Given the description of an element on the screen output the (x, y) to click on. 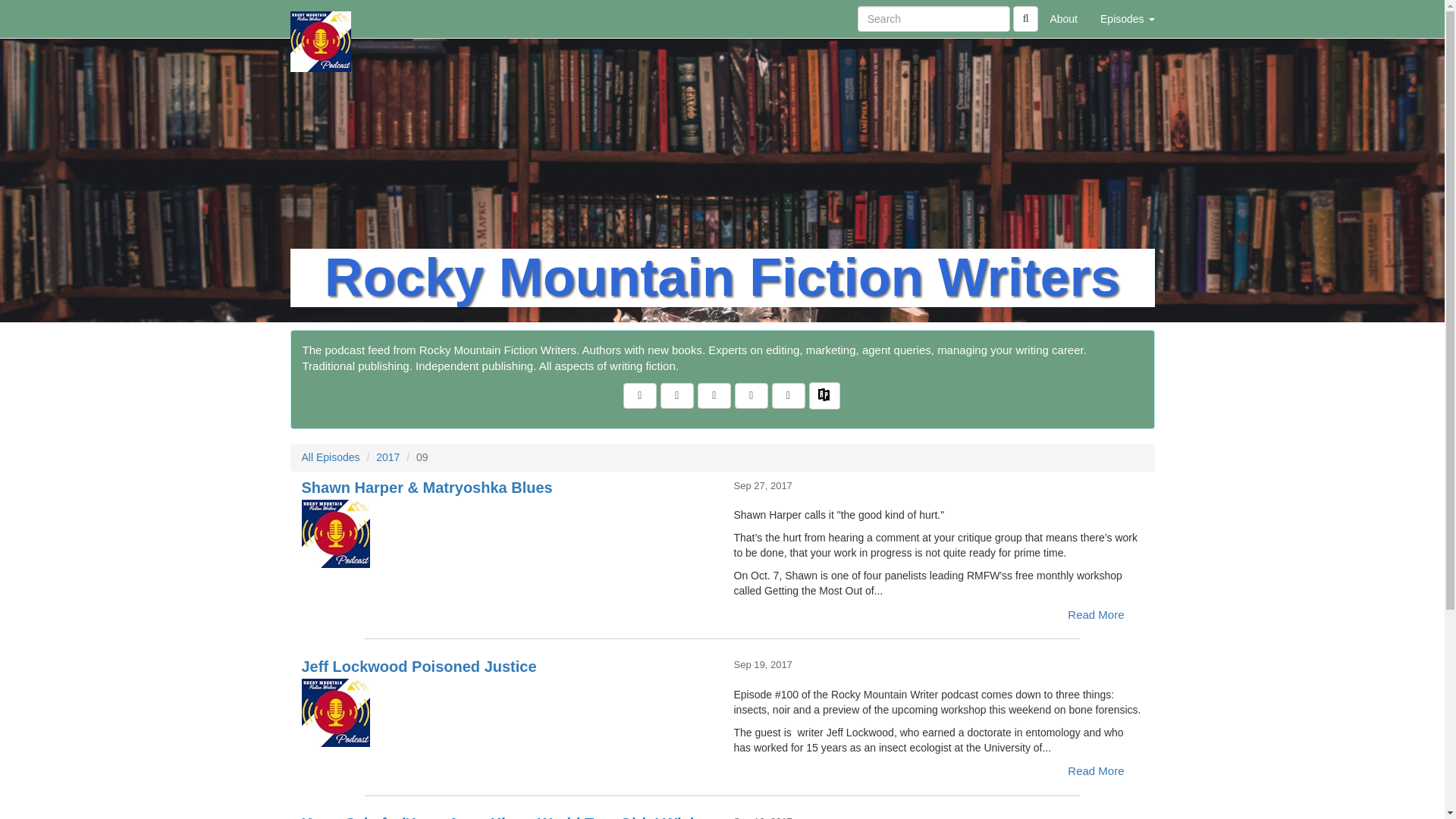
Jeff Lockwood Poisoned Justice (506, 712)
Episodes (1127, 18)
About (1063, 18)
Home Page (320, 18)
